Given the description of an element on the screen output the (x, y) to click on. 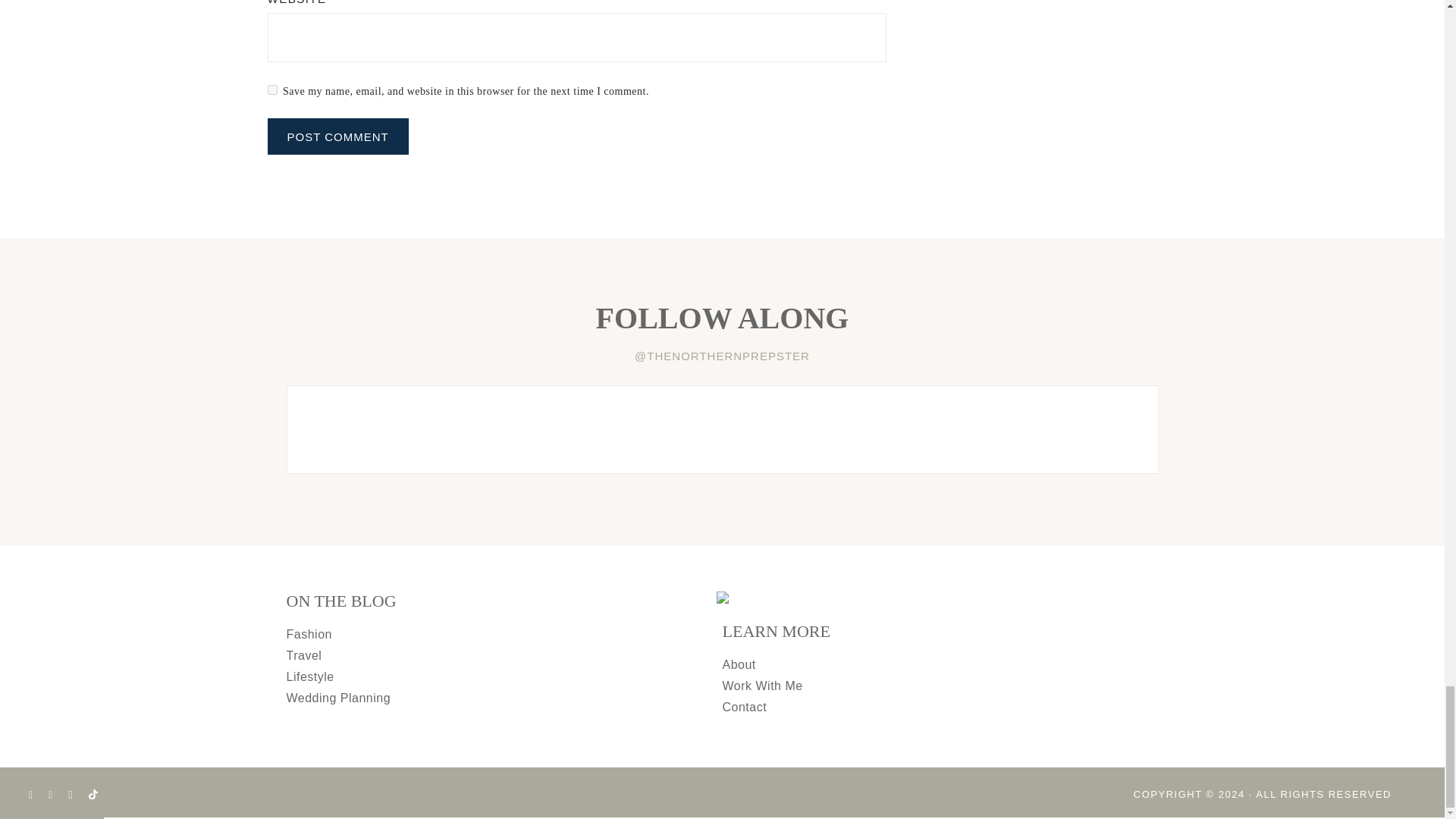
Post Comment (336, 135)
yes (271, 90)
